Given the description of an element on the screen output the (x, y) to click on. 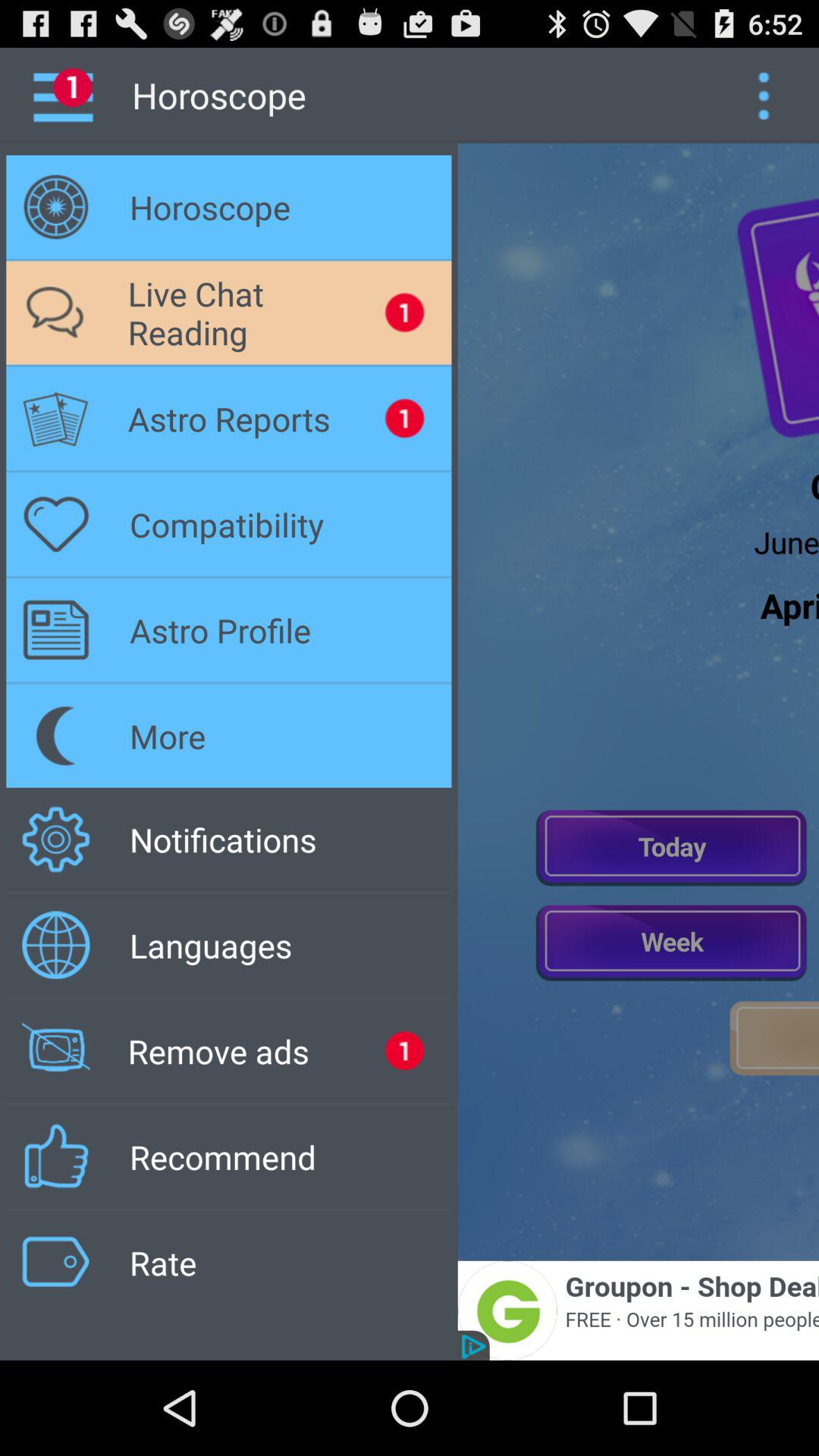
weekly horscope purpple button (671, 940)
